Given the description of an element on the screen output the (x, y) to click on. 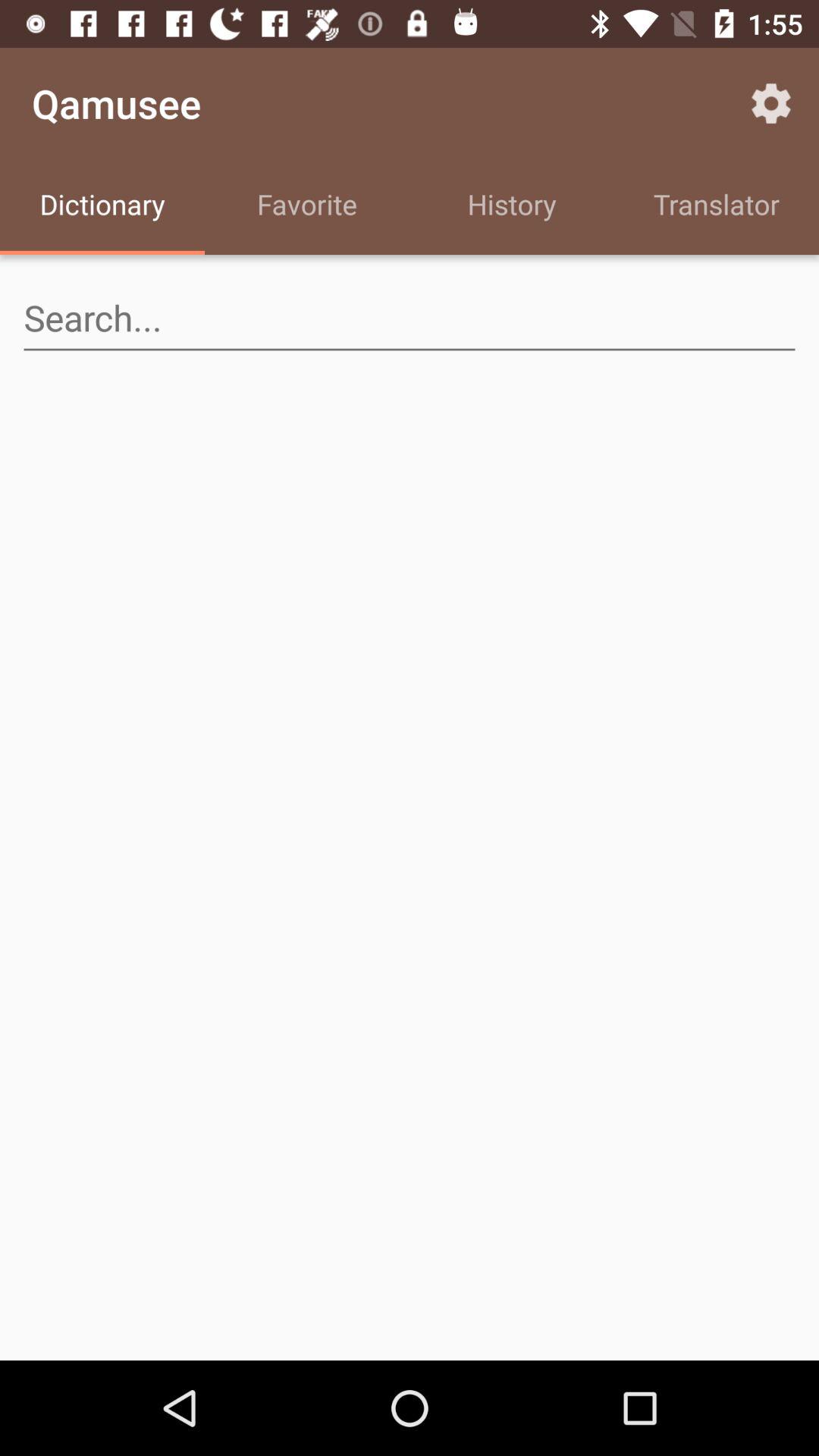
swipe until dictionary item (102, 206)
